Given the description of an element on the screen output the (x, y) to click on. 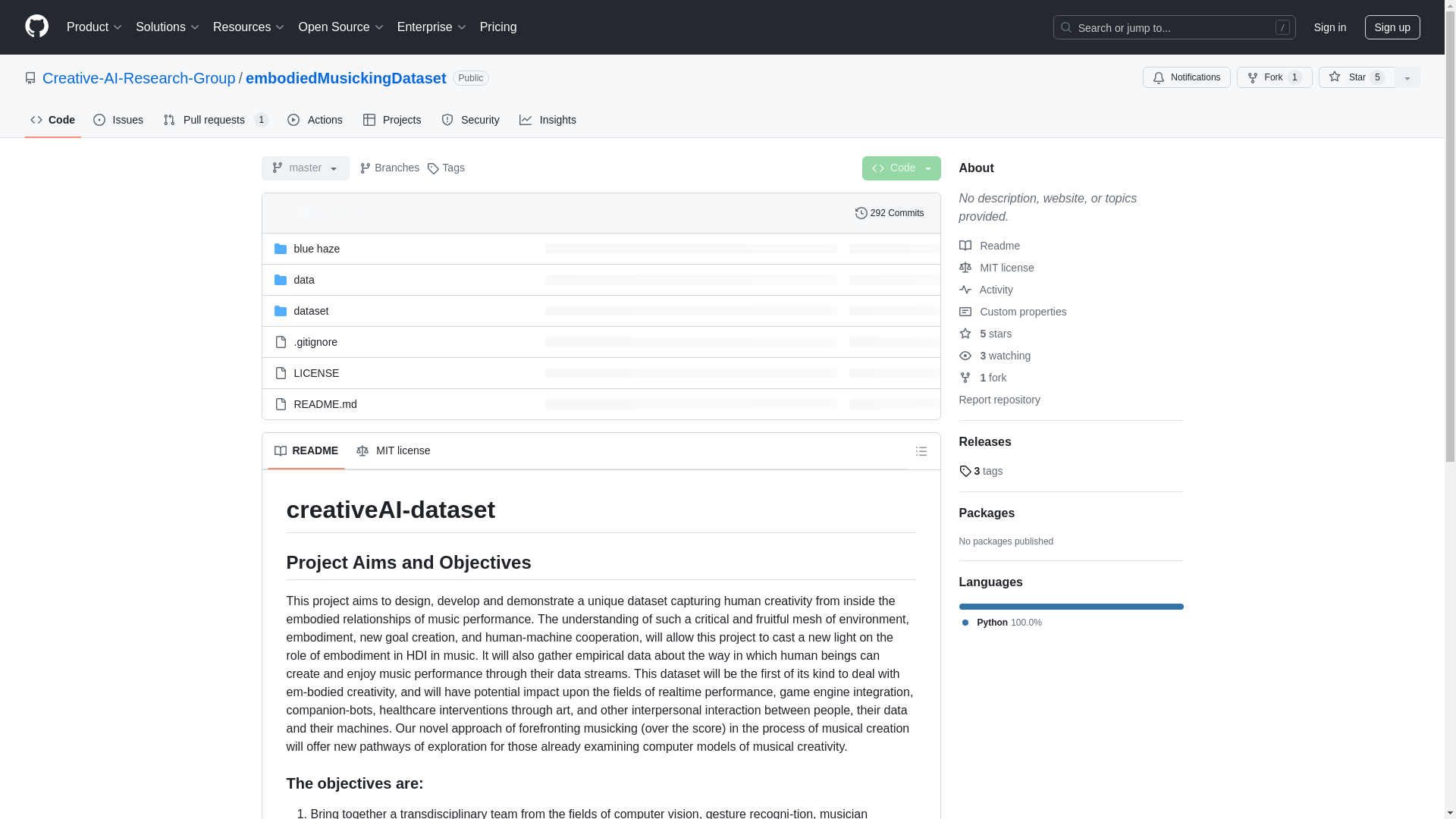
LICENSE (316, 372)
1 (261, 119)
Resources (249, 27)
.gitignore (315, 340)
Product (95, 27)
data (304, 278)
5 (1378, 77)
Solutions (167, 27)
1 (1295, 77)
